Given the description of an element on the screen output the (x, y) to click on. 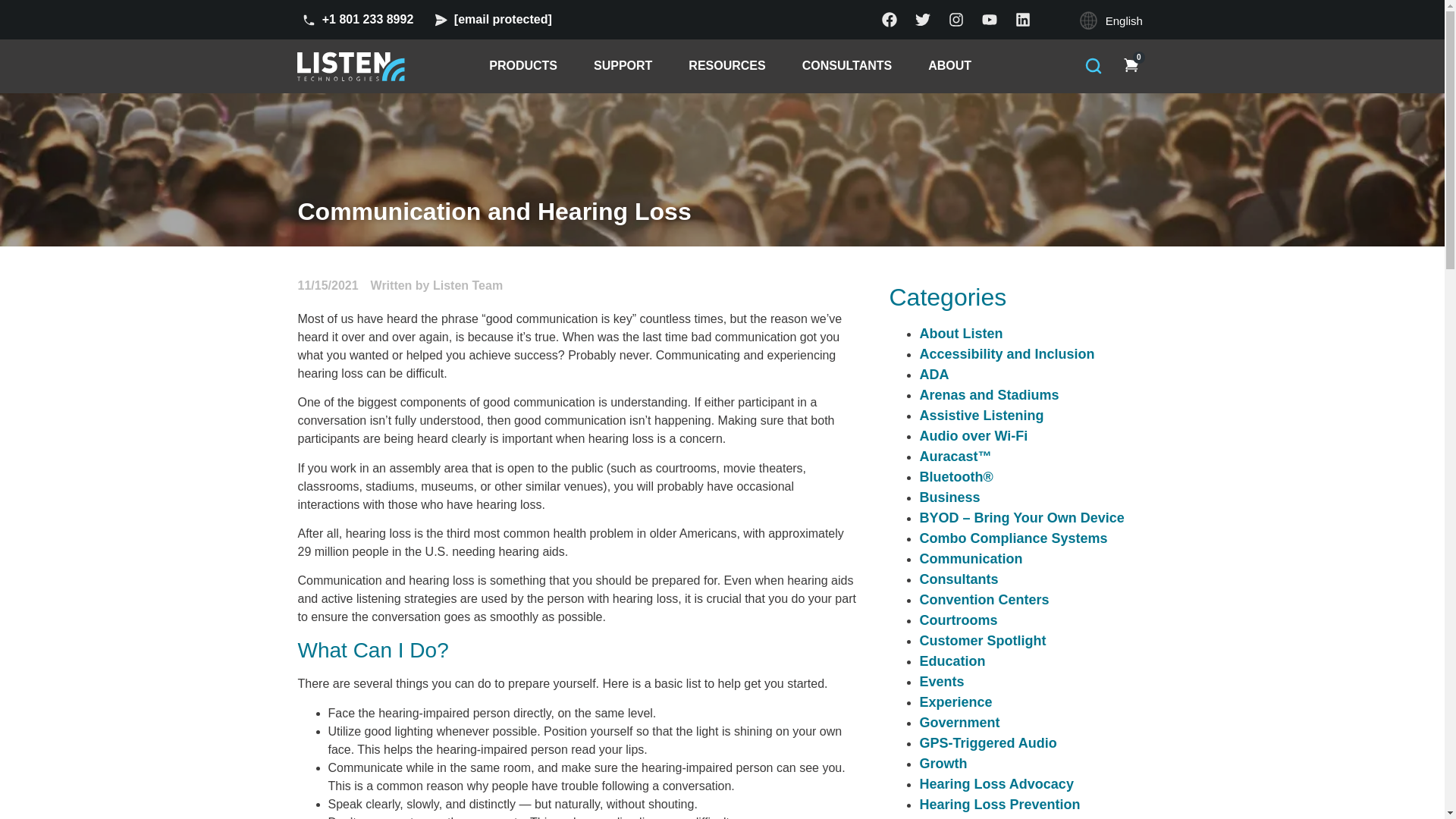
PRODUCTS (523, 65)
SUPPORT (751, 65)
RESOURCES (622, 65)
